Given the description of an element on the screen output the (x, y) to click on. 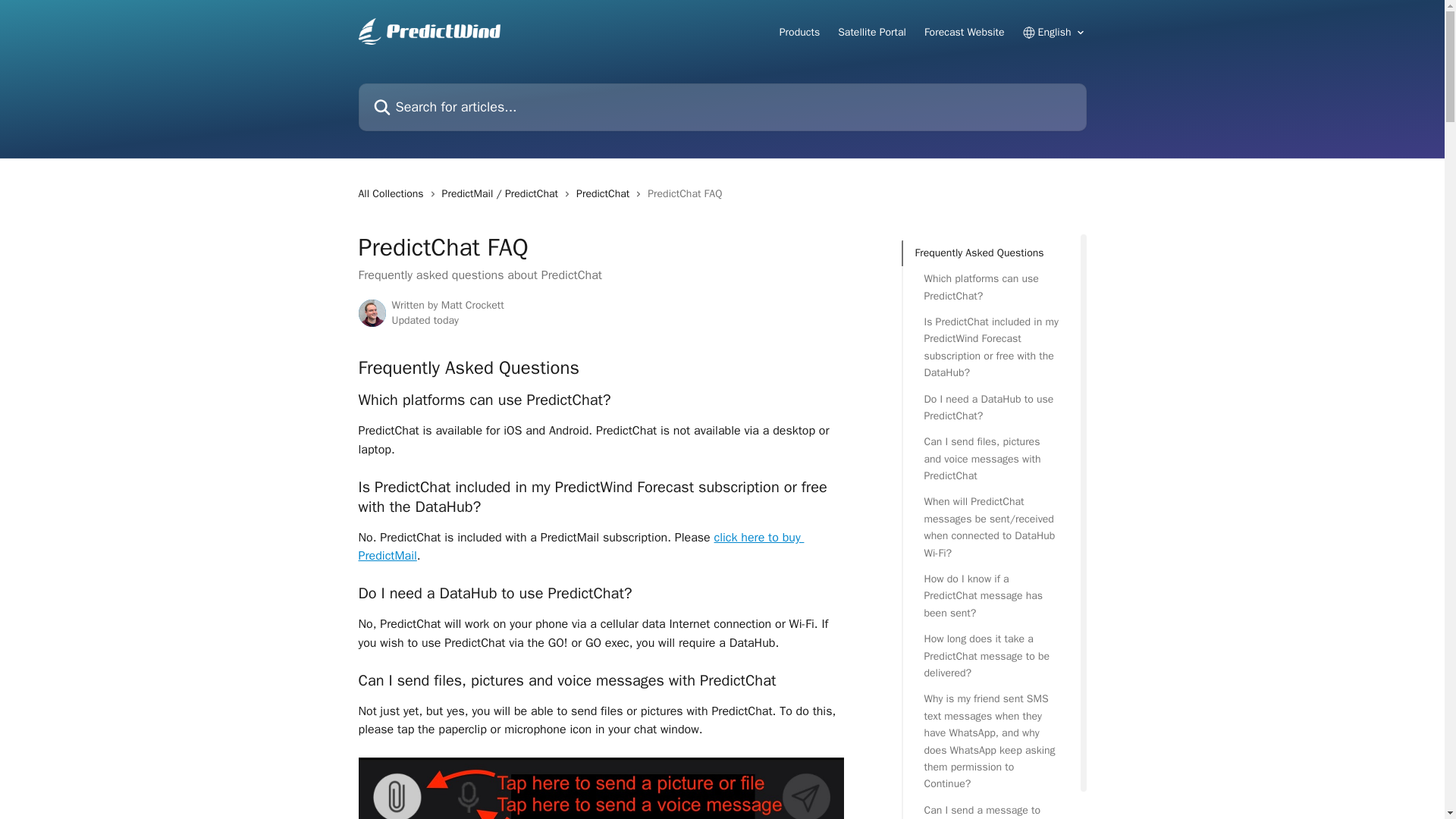
How long does it take a PredictChat message to be delivered? (990, 655)
Products (798, 32)
Which platforms can use PredictChat? (990, 287)
Frequently Asked Questions (990, 252)
Satellite Portal (871, 32)
Do I need a DataHub to use PredictChat? (990, 408)
How do I know if a PredictChat message has been sent? (990, 595)
PredictChat (605, 193)
All Collections (393, 193)
Forecast Website (964, 32)
